Given the description of an element on the screen output the (x, y) to click on. 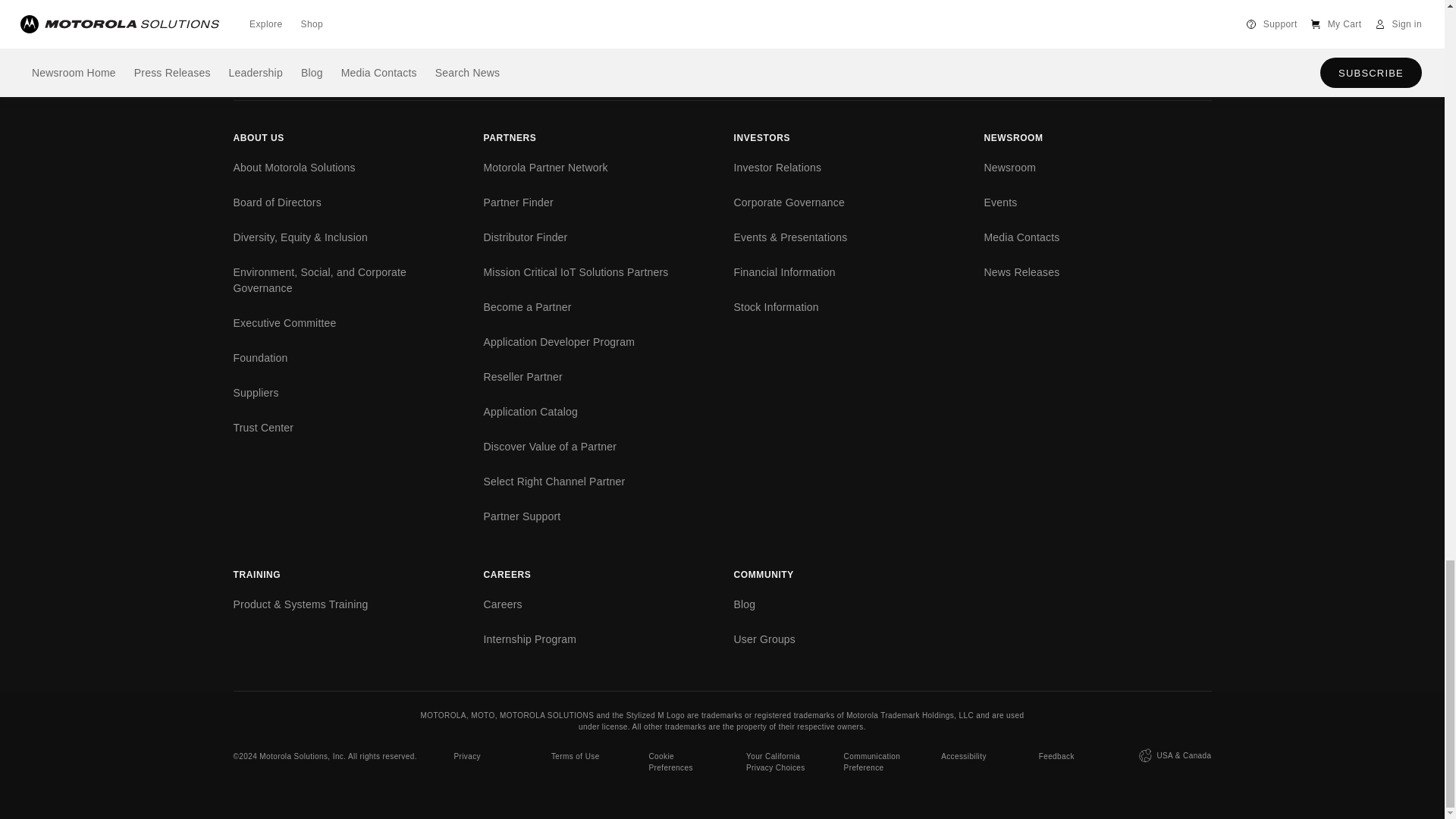
Cookie Preferences (679, 765)
